Given the description of an element on the screen output the (x, y) to click on. 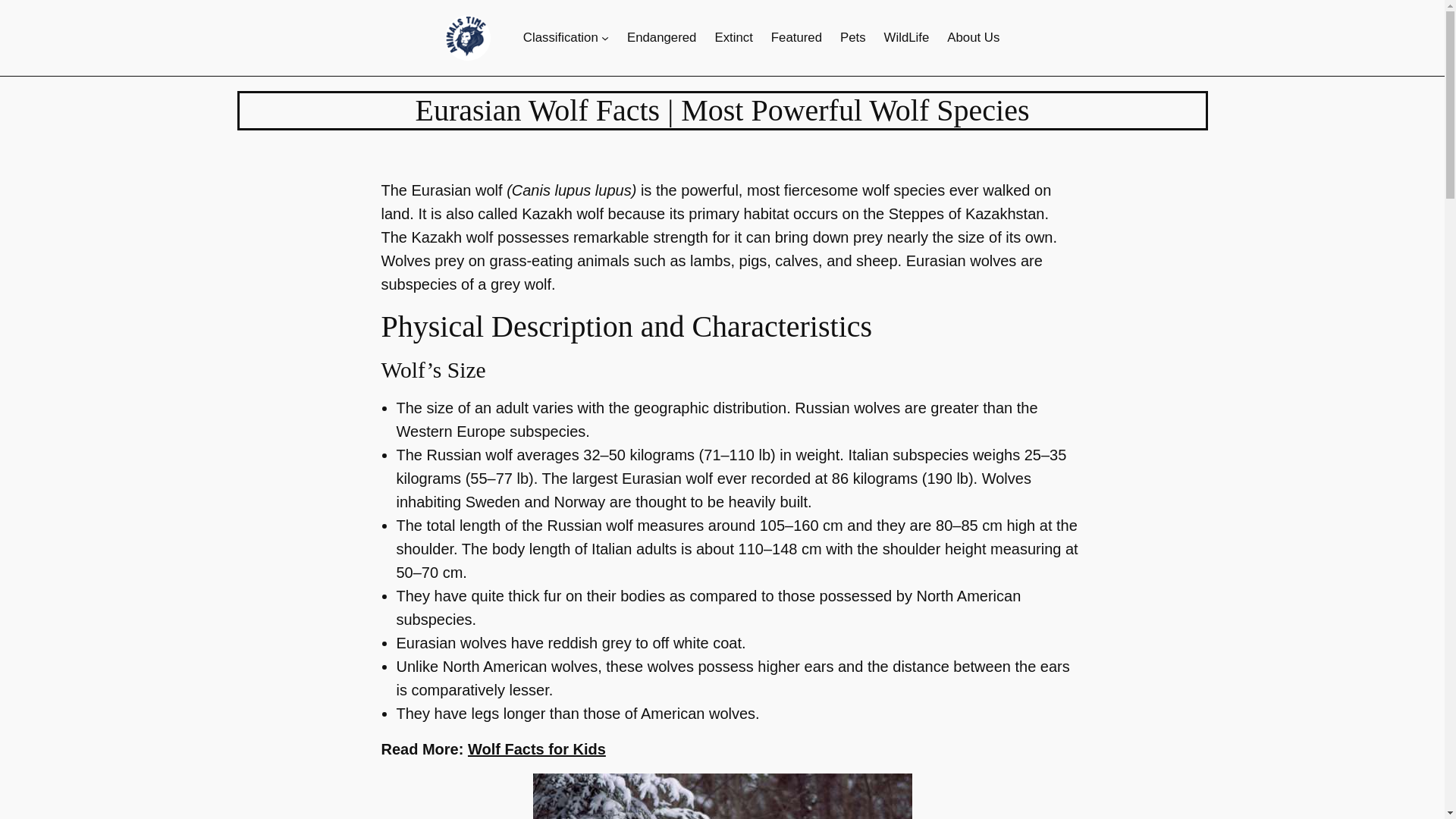
About Us (972, 37)
Pets (853, 37)
WildLife (906, 37)
Wolf Facts for Kids (536, 749)
Extinct (733, 37)
Classification (560, 37)
Endangered (661, 37)
Featured (796, 37)
